Given the description of an element on the screen output the (x, y) to click on. 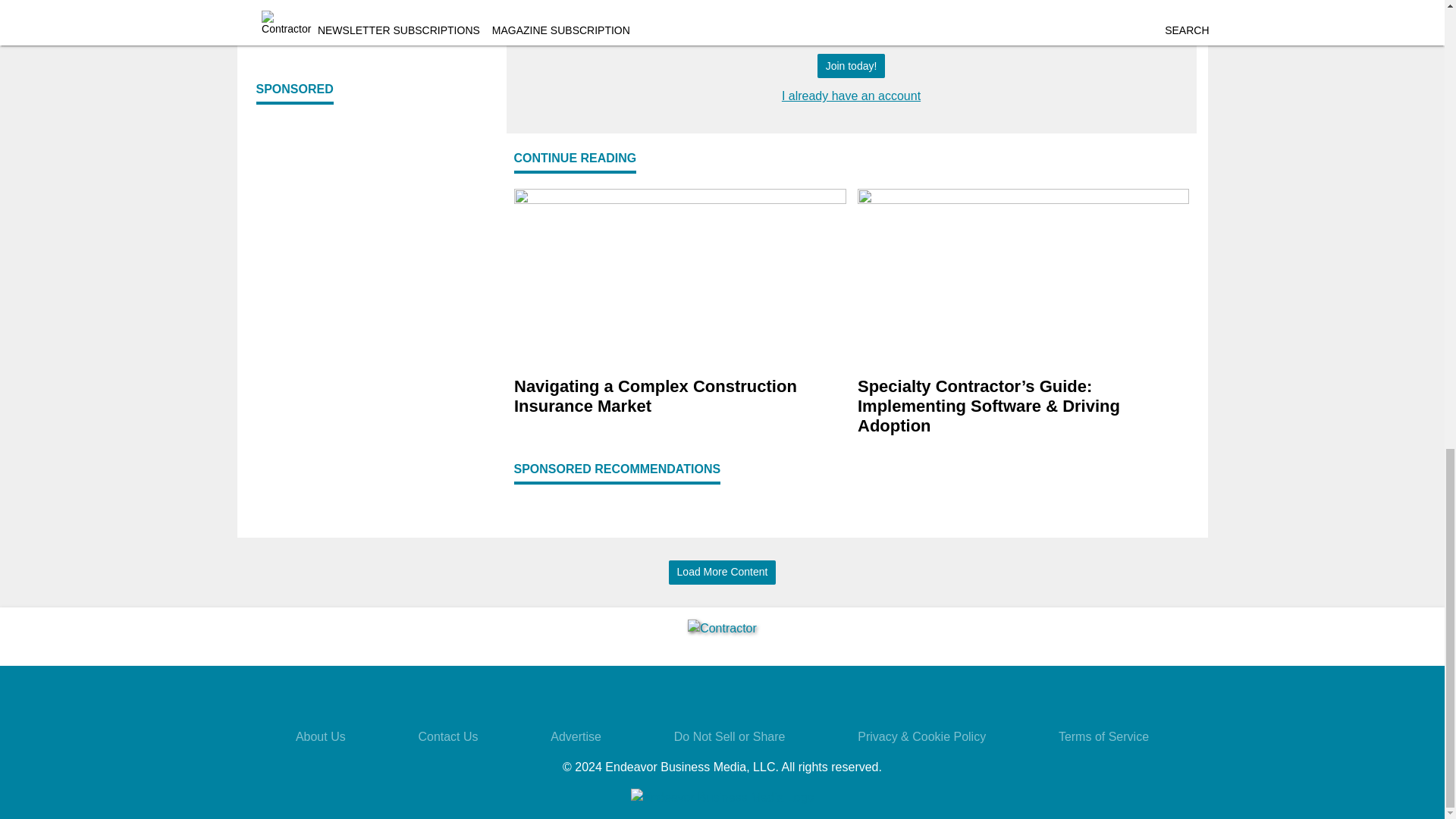
I already have an account (850, 95)
Navigating a Complex Construction Insurance Market (679, 396)
Load More Content (722, 572)
Contact Us (447, 736)
Terms of Service (1103, 736)
Do Not Sell or Share (730, 736)
Join today! (850, 66)
Advertise (575, 736)
About Us (320, 736)
